Given the description of an element on the screen output the (x, y) to click on. 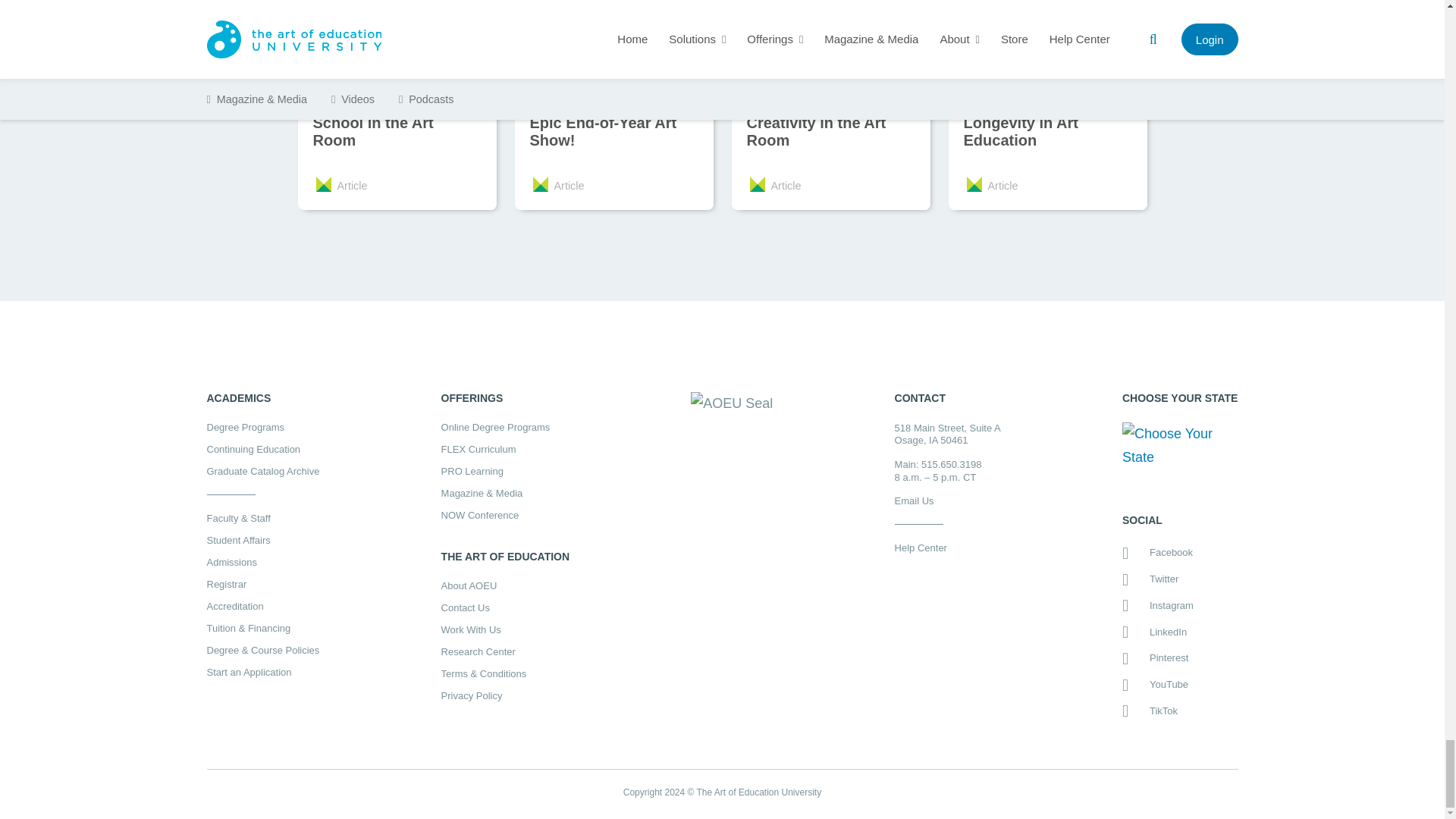
Degree Programs (262, 427)
Accreditation (262, 605)
Registrar (262, 583)
Graduate Catalog Archive (262, 470)
Continuing Education (262, 449)
Admissions (262, 562)
Student Affairs (262, 540)
